Given the description of an element on the screen output the (x, y) to click on. 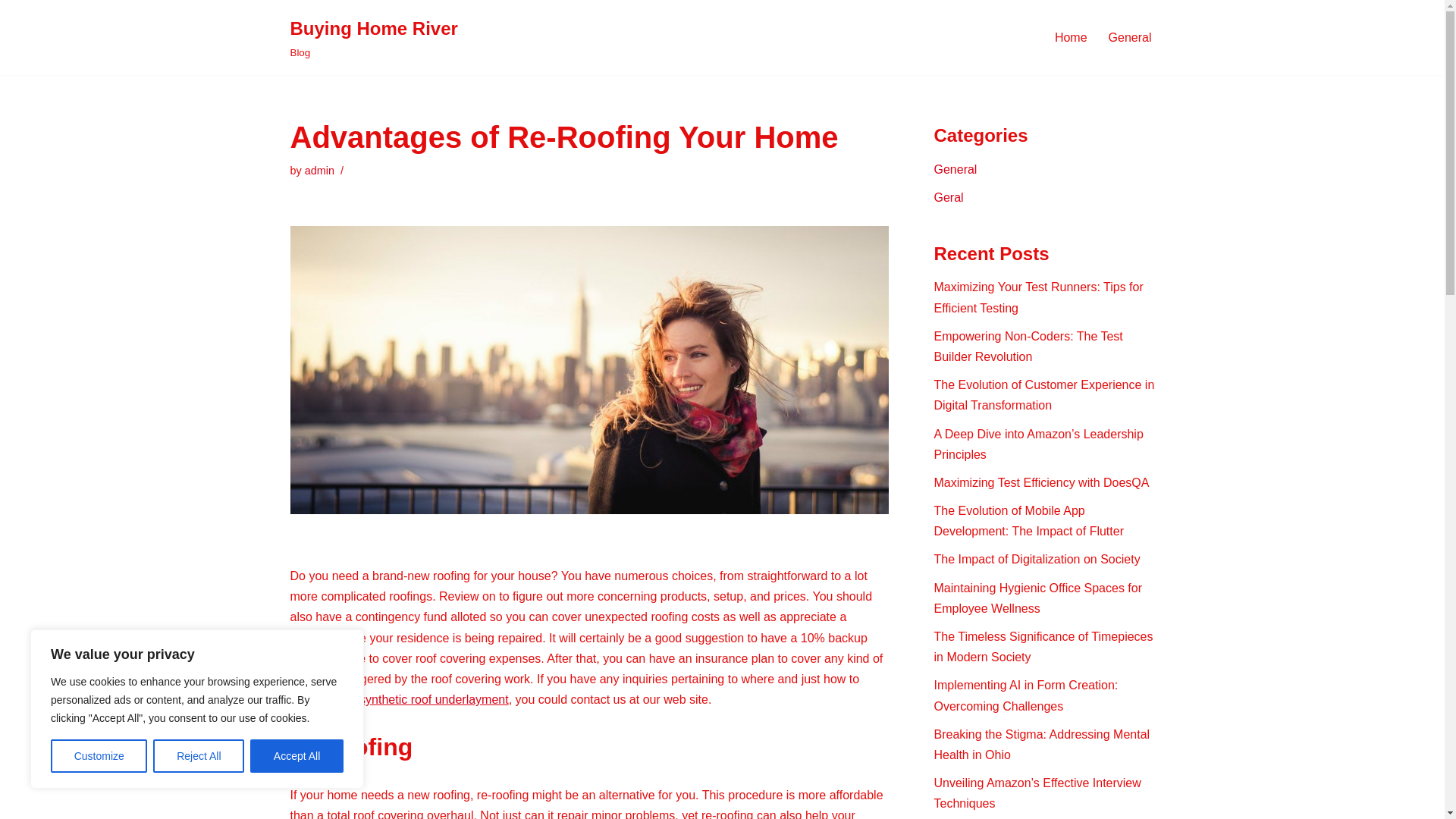
Reject All (198, 756)
Customize (373, 37)
Skip to content (98, 756)
General (11, 31)
admin (955, 169)
Home (319, 170)
Empowering Non-Coders: The Test Builder Revolution (1070, 37)
